Given the description of an element on the screen output the (x, y) to click on. 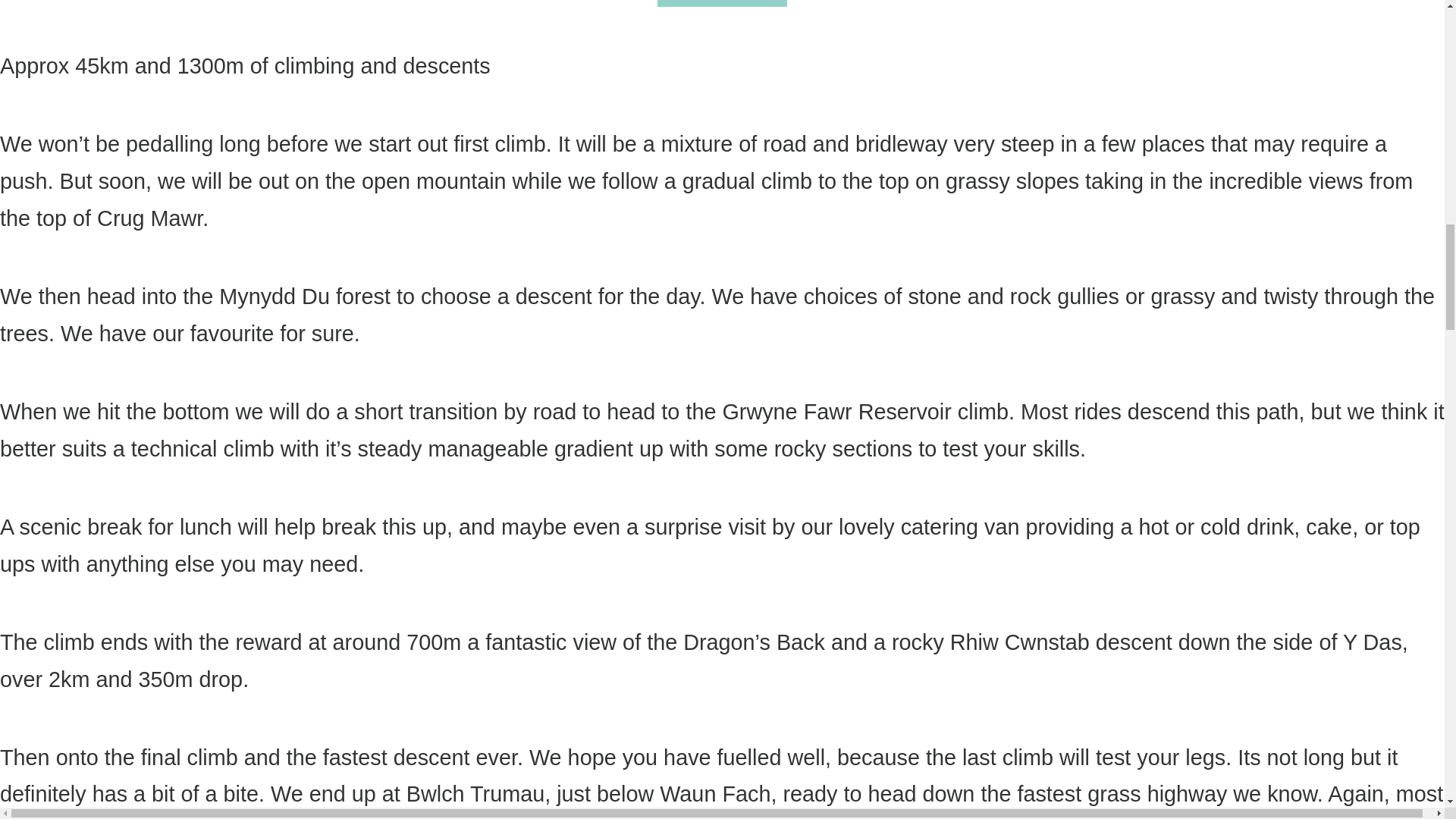
BOOK NOW (722, 3)
